Given the description of an element on the screen output the (x, y) to click on. 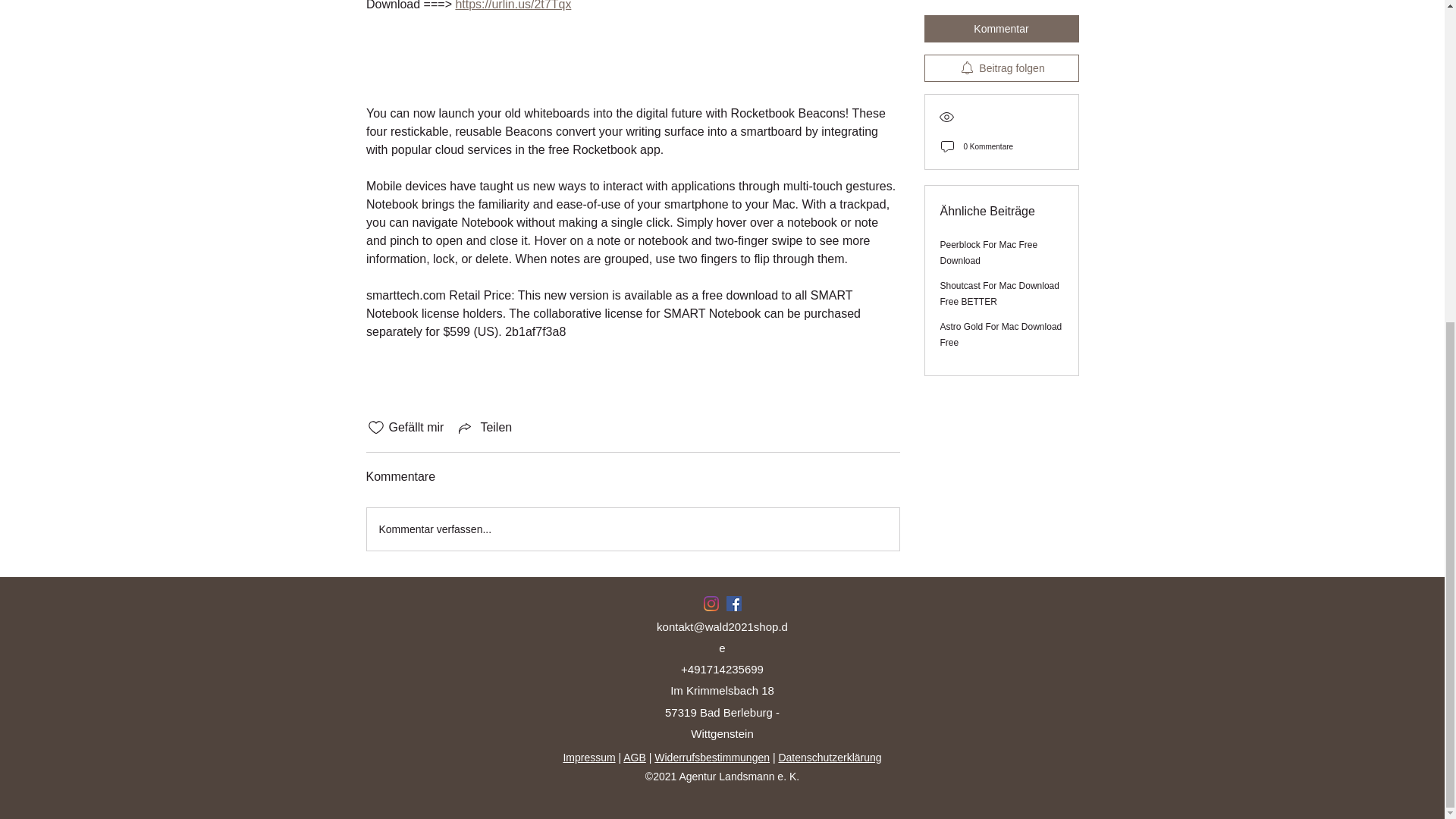
Kommentar verfassen... (632, 528)
Teilen (483, 427)
Shoutcast For Mac Download Free BETTER (999, 112)
AGB (634, 757)
Astro Gold For Mac Download Free (1001, 153)
Widerrufsbestimmungen (711, 757)
Impressum (588, 757)
Peerblock For Mac Free Download (989, 71)
